Given the description of an element on the screen output the (x, y) to click on. 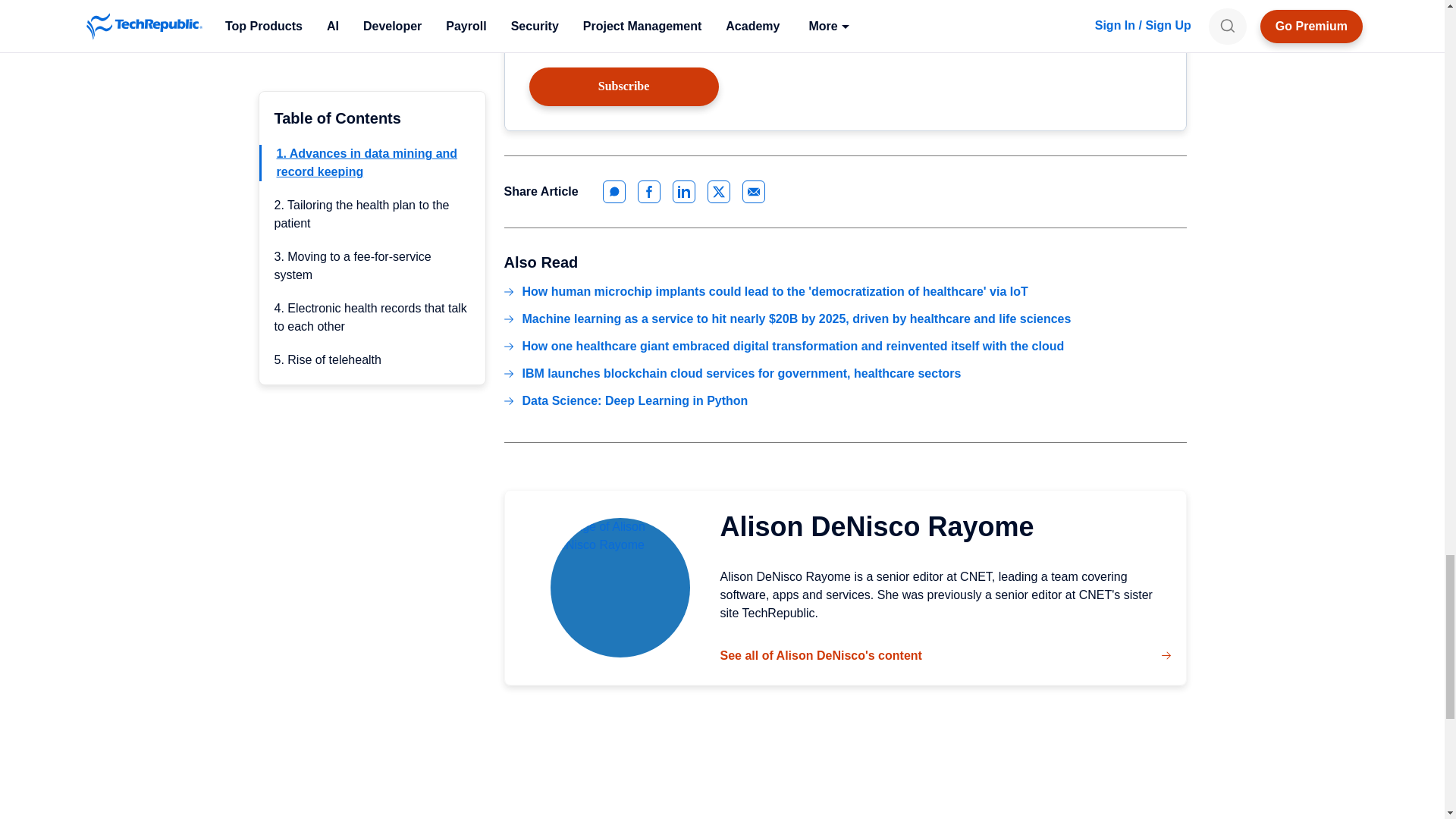
on (539, 44)
